Given the description of an element on the screen output the (x, y) to click on. 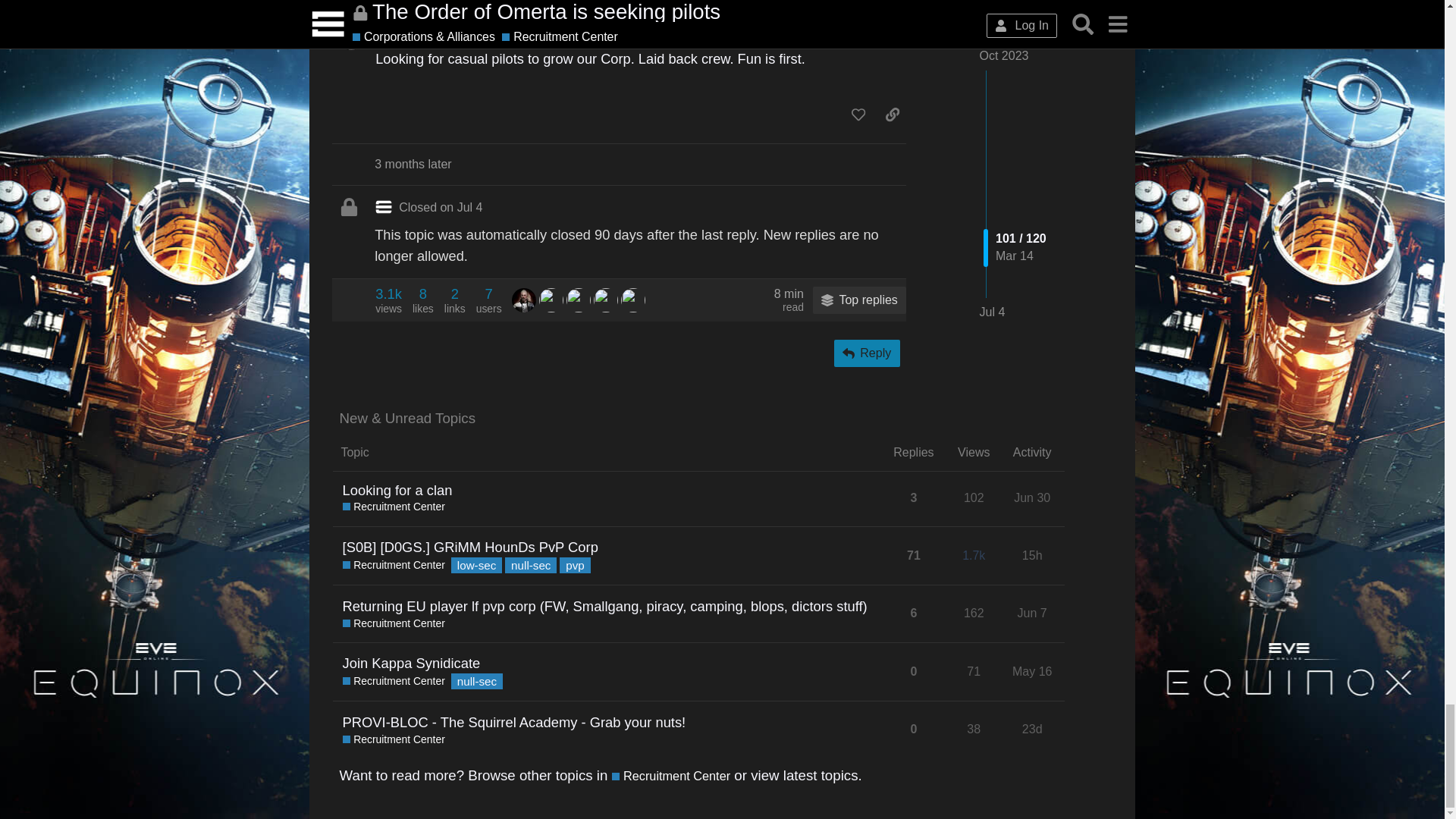
KilsWitcH (578, 300)
Dyttle Moef (550, 300)
Kartan Vengari (388, 300)
Geo Eclipse Oksaras (489, 300)
D1CK TR1CKLE (523, 300)
KilsWitcH (605, 300)
Top replies (633, 300)
